Given the description of an element on the screen output the (x, y) to click on. 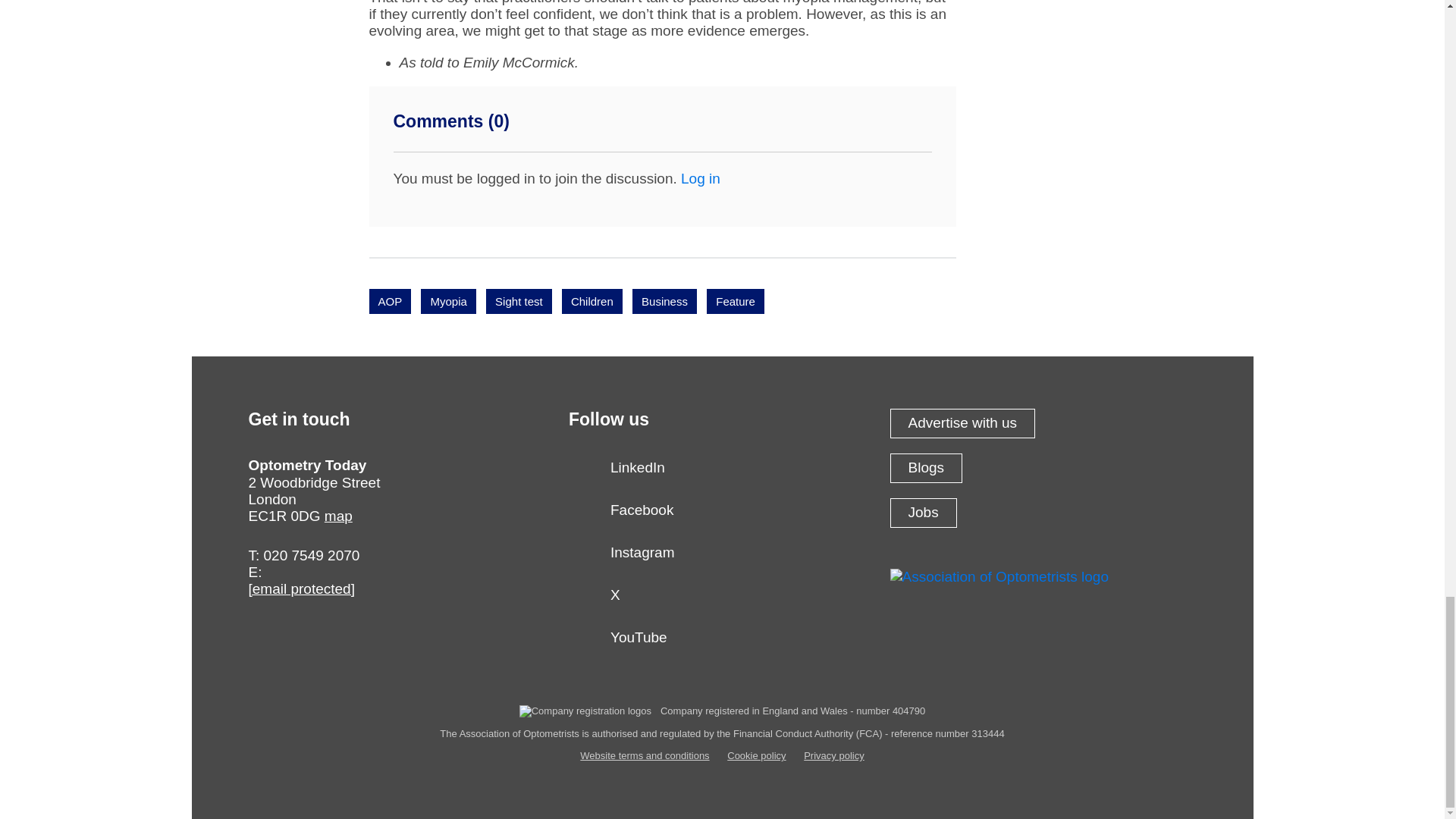
Find us on the map (338, 515)
Follow Ot on Twitter (722, 599)
Follow Ot on Facebook (722, 514)
Connect with OT on LinkedIn (722, 472)
